Given the description of an element on the screen output the (x, y) to click on. 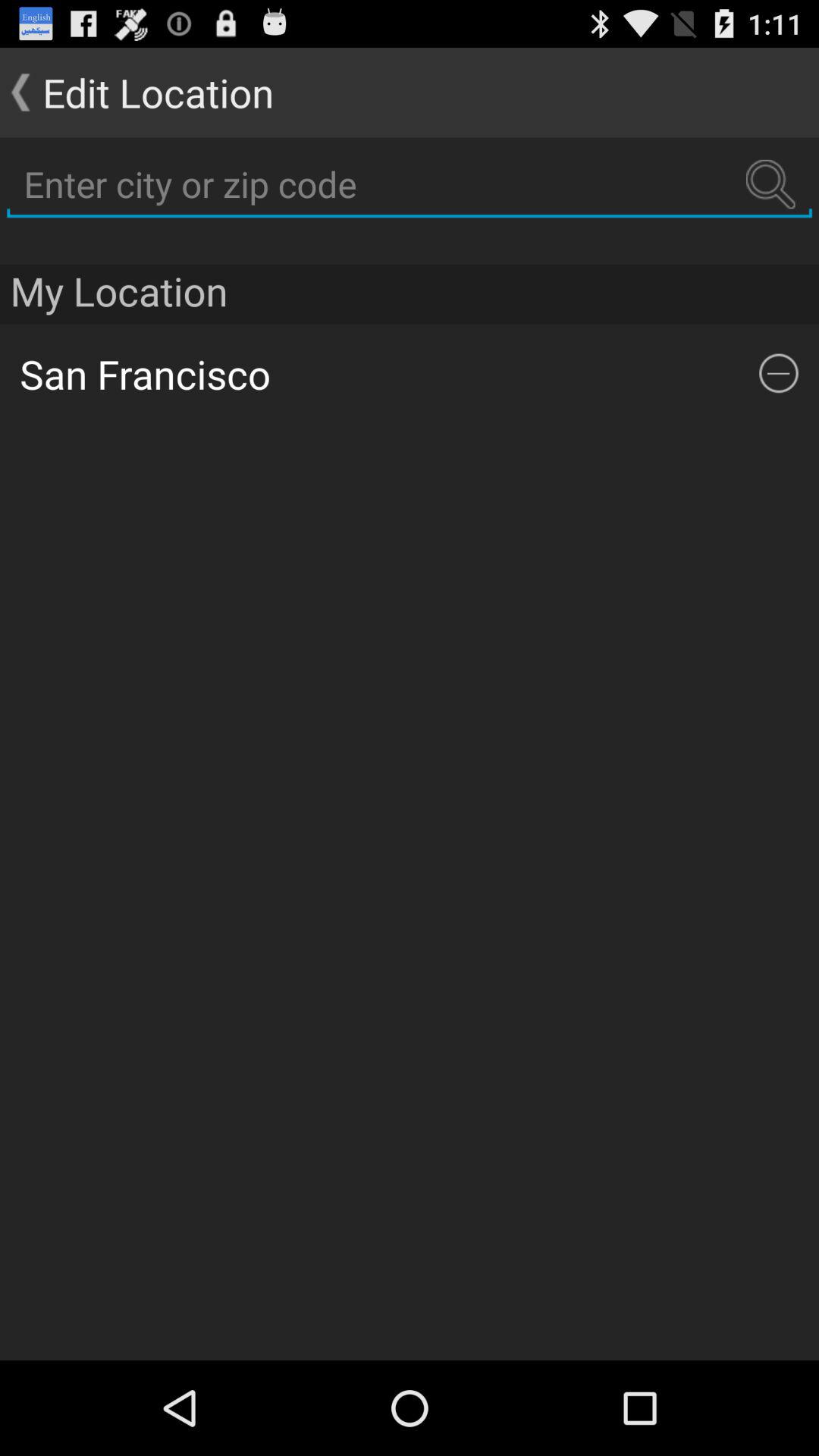
choose the item below the my location app (399, 373)
